Given the description of an element on the screen output the (x, y) to click on. 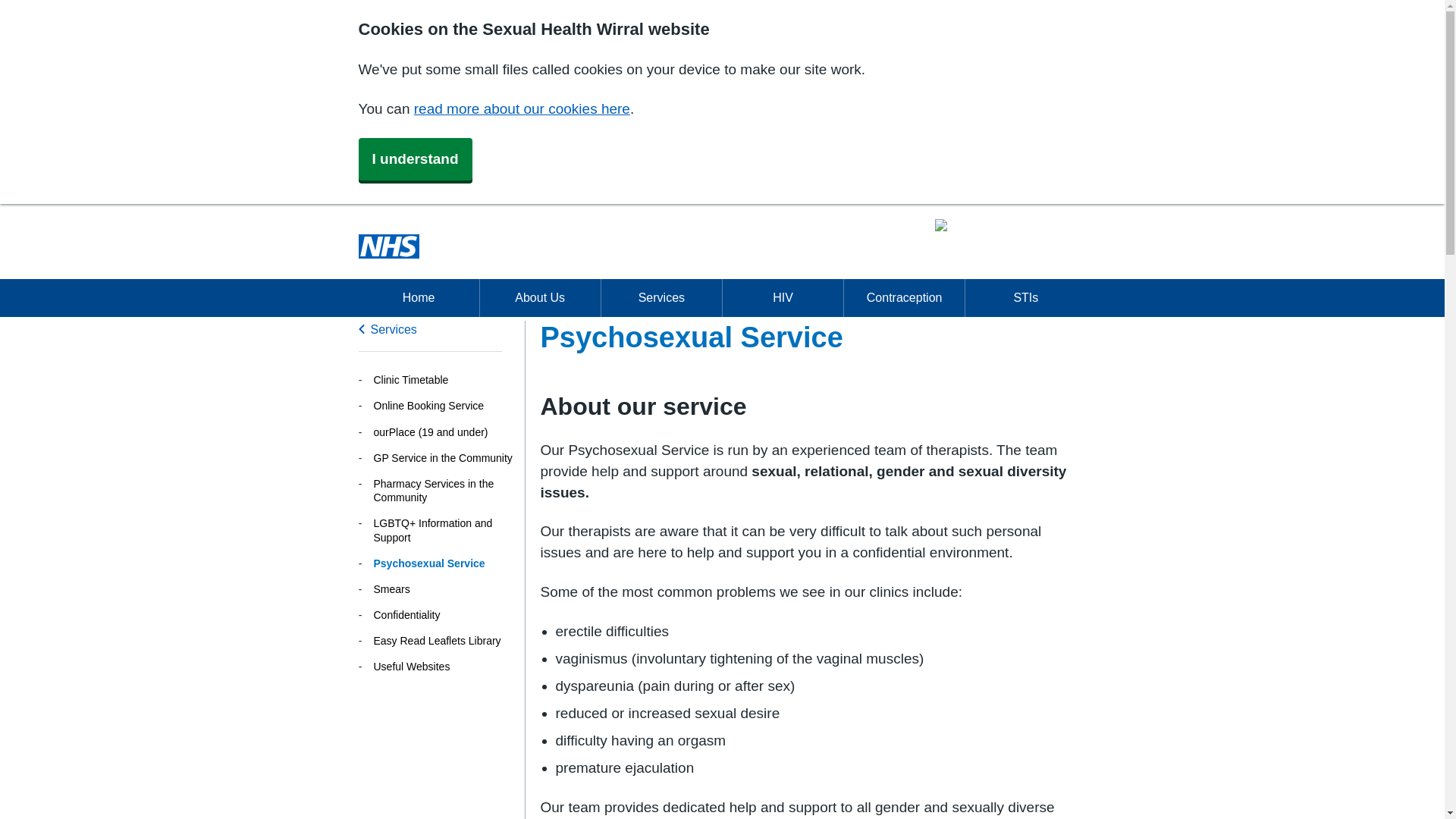
Psychosexual Service (444, 563)
read more about our cookies here (521, 108)
I understand (414, 159)
Useful Websites (444, 666)
Smears (444, 589)
Confidentiality (444, 614)
About Us (539, 297)
Online Booking Service (444, 405)
Pharmacy Services in the Community (444, 490)
STIs (1025, 297)
